Given the description of an element on the screen output the (x, y) to click on. 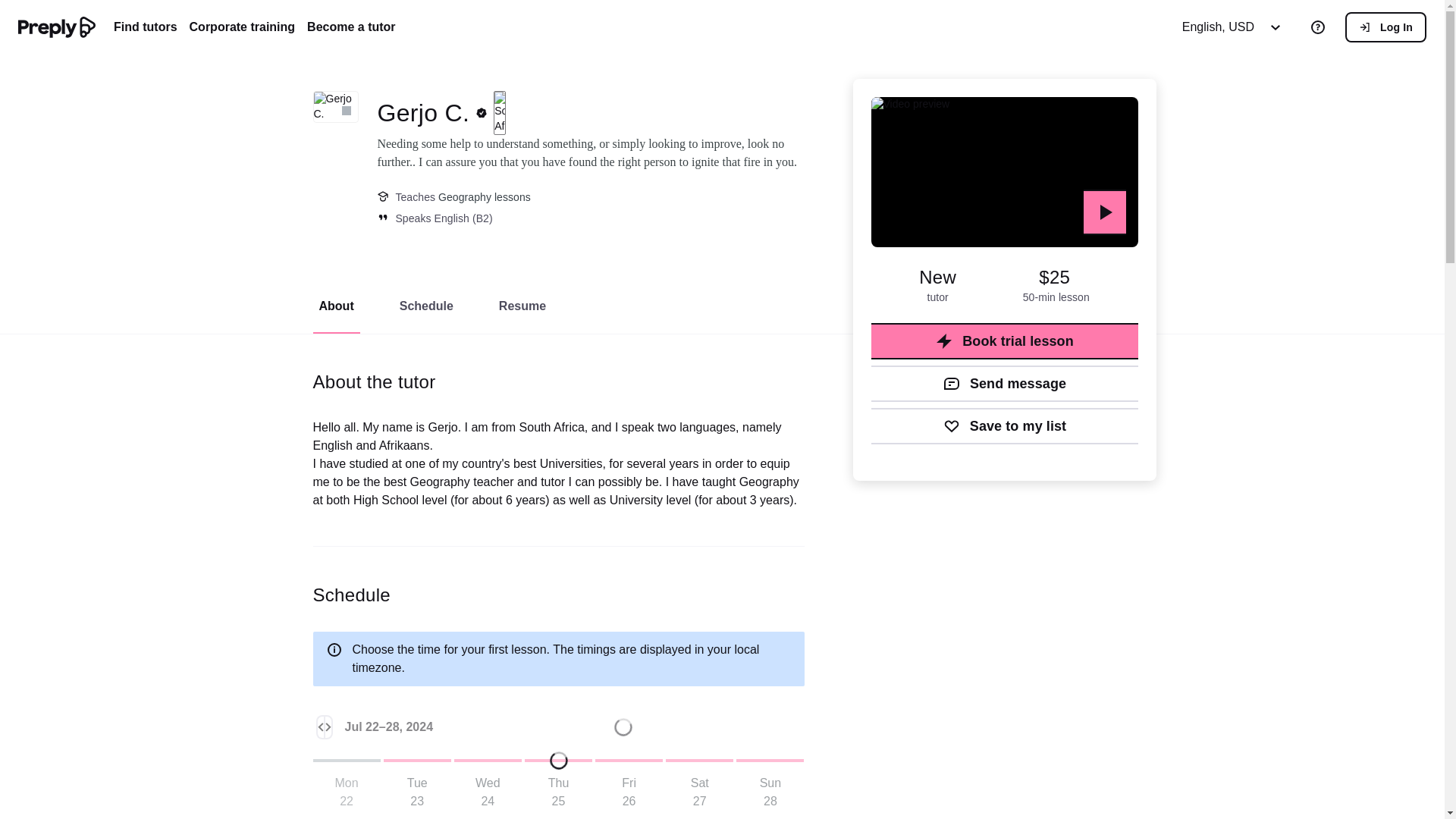
Log In (1385, 27)
Corporate training (242, 27)
Find tutors (145, 27)
Become a tutor (350, 27)
English, USD (1236, 27)
